Given the description of an element on the screen output the (x, y) to click on. 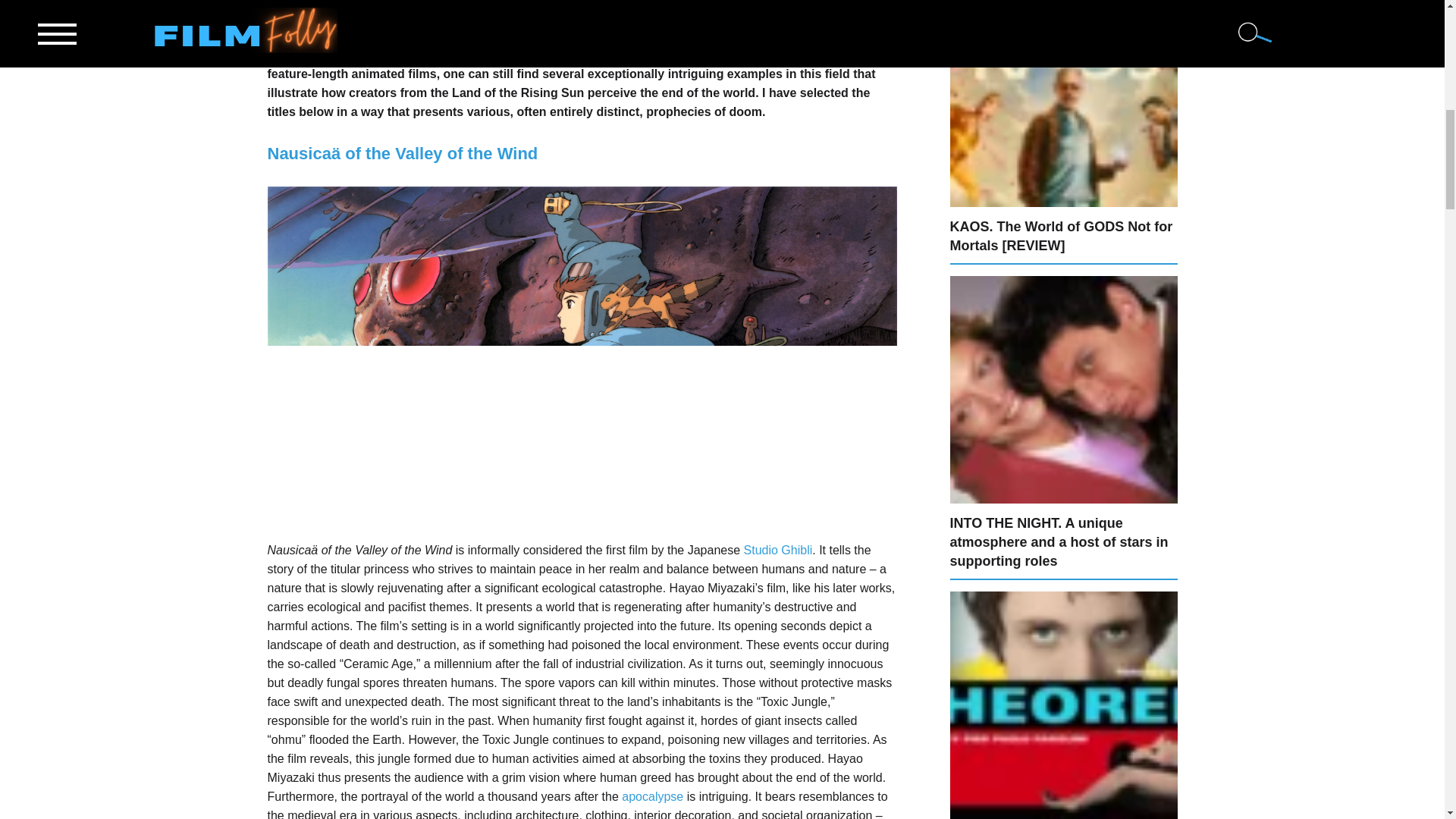
science fiction (793, 2)
apocalypse (651, 796)
Ghost in the Shell (750, 16)
Studio Ghibli (778, 549)
